Given the description of an element on the screen output the (x, y) to click on. 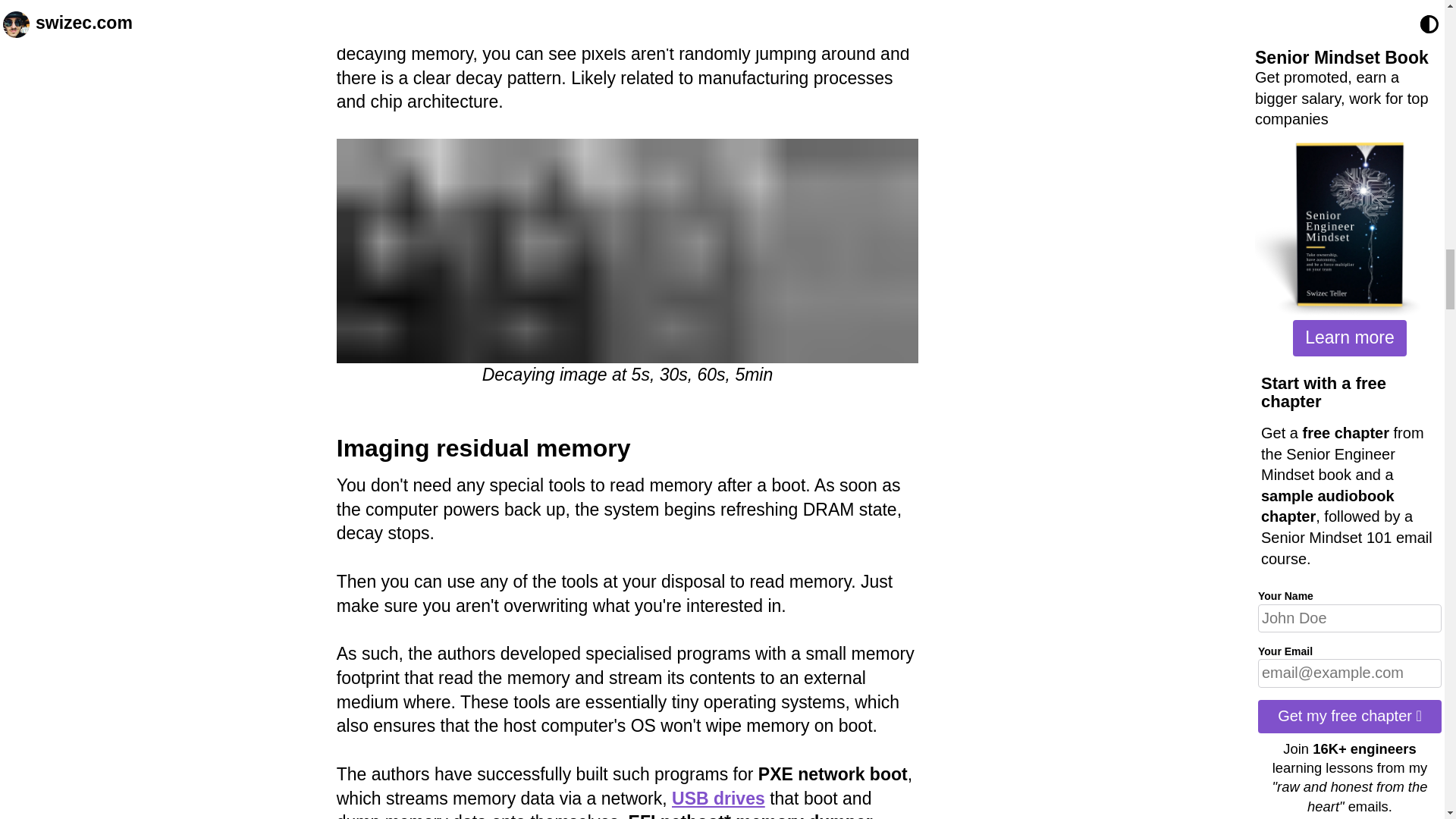
USB drives (718, 798)
Imaging residual memory (483, 447)
USB flash drive (718, 798)
